Given the description of an element on the screen output the (x, y) to click on. 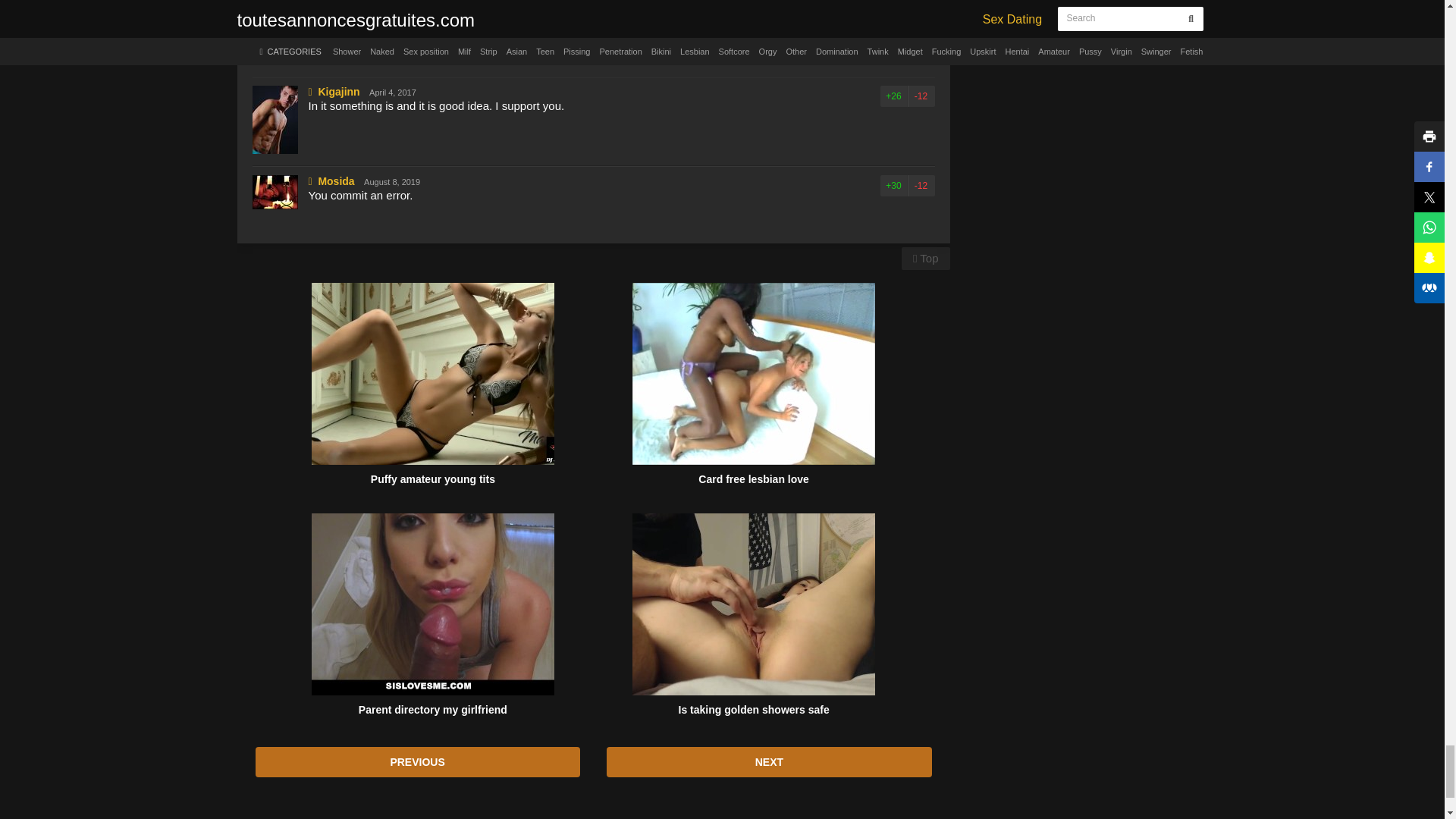
Card free lesbian love (753, 373)
Puffy amateur young tits (432, 373)
